Given the description of an element on the screen output the (x, y) to click on. 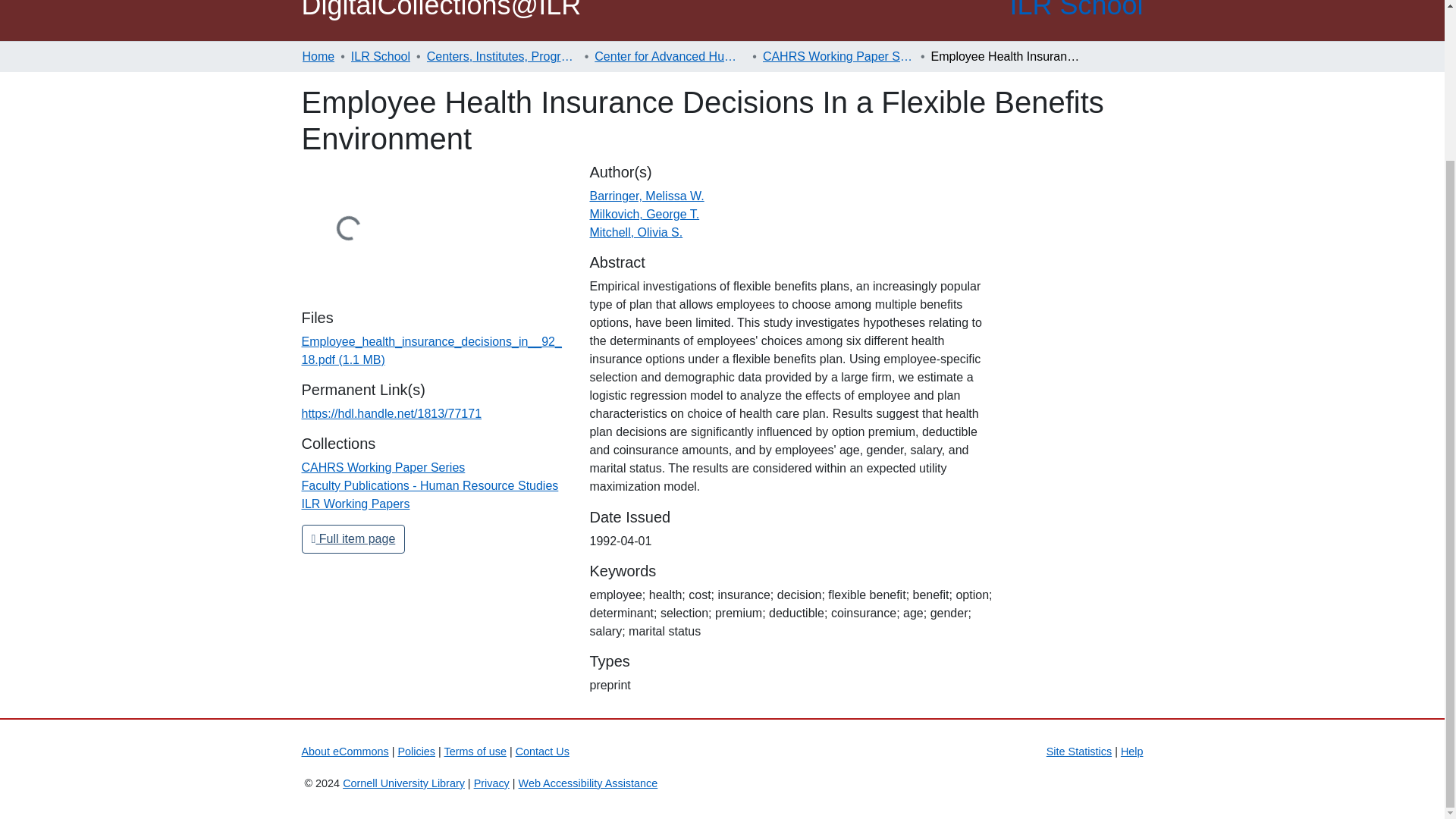
Centers, Institutes, Programs (502, 56)
CAHRS Working Paper Series (838, 56)
Terms of use (475, 751)
Cornell University Library (403, 783)
Home (317, 56)
Privacy (491, 783)
CAHRS Working Paper Series (383, 467)
Barringer, Melissa W. (646, 195)
Site Statistics (1079, 751)
About eCommons (344, 751)
